Given the description of an element on the screen output the (x, y) to click on. 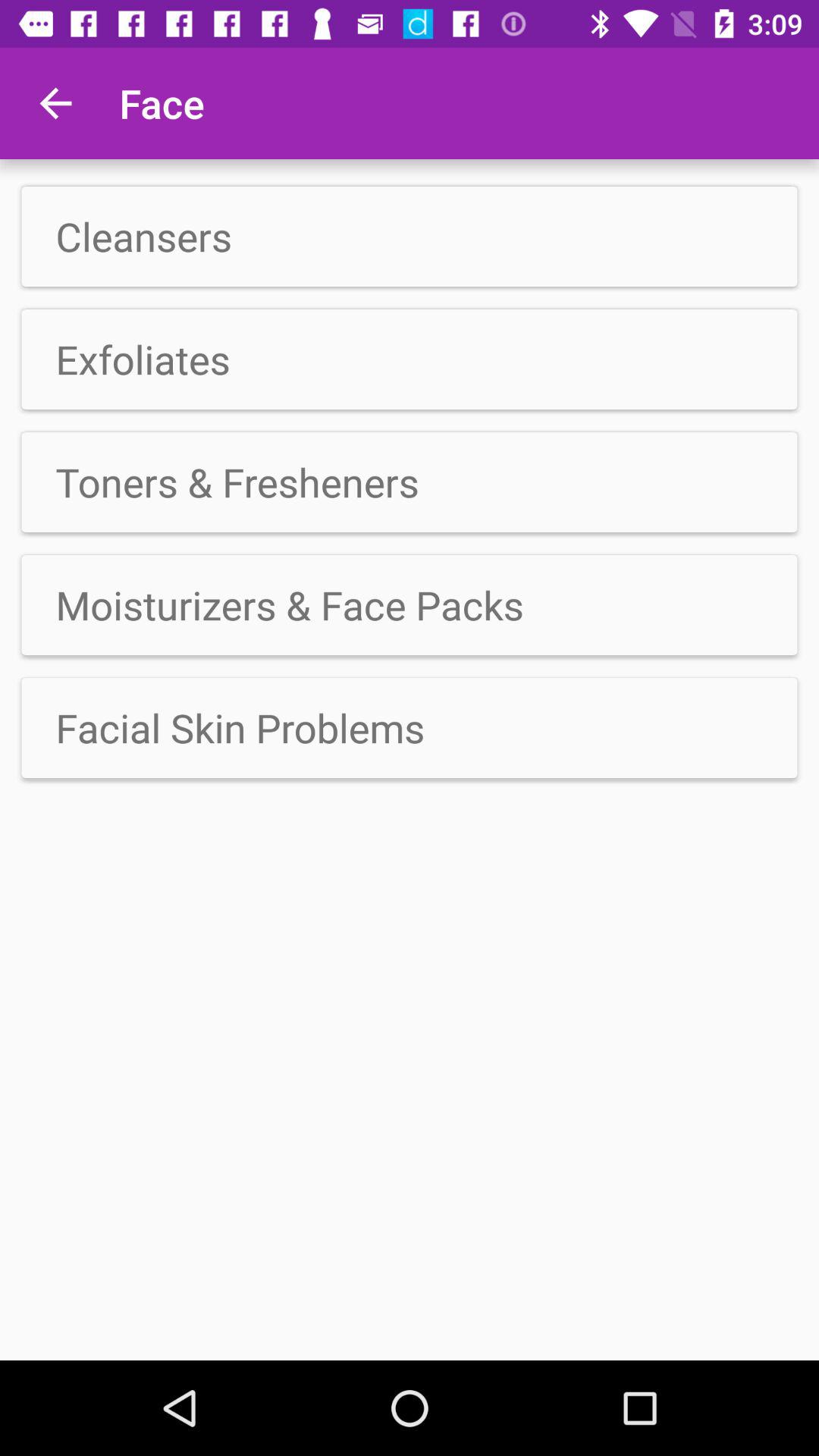
select the app above toners & fresheners item (409, 359)
